Given the description of an element on the screen output the (x, y) to click on. 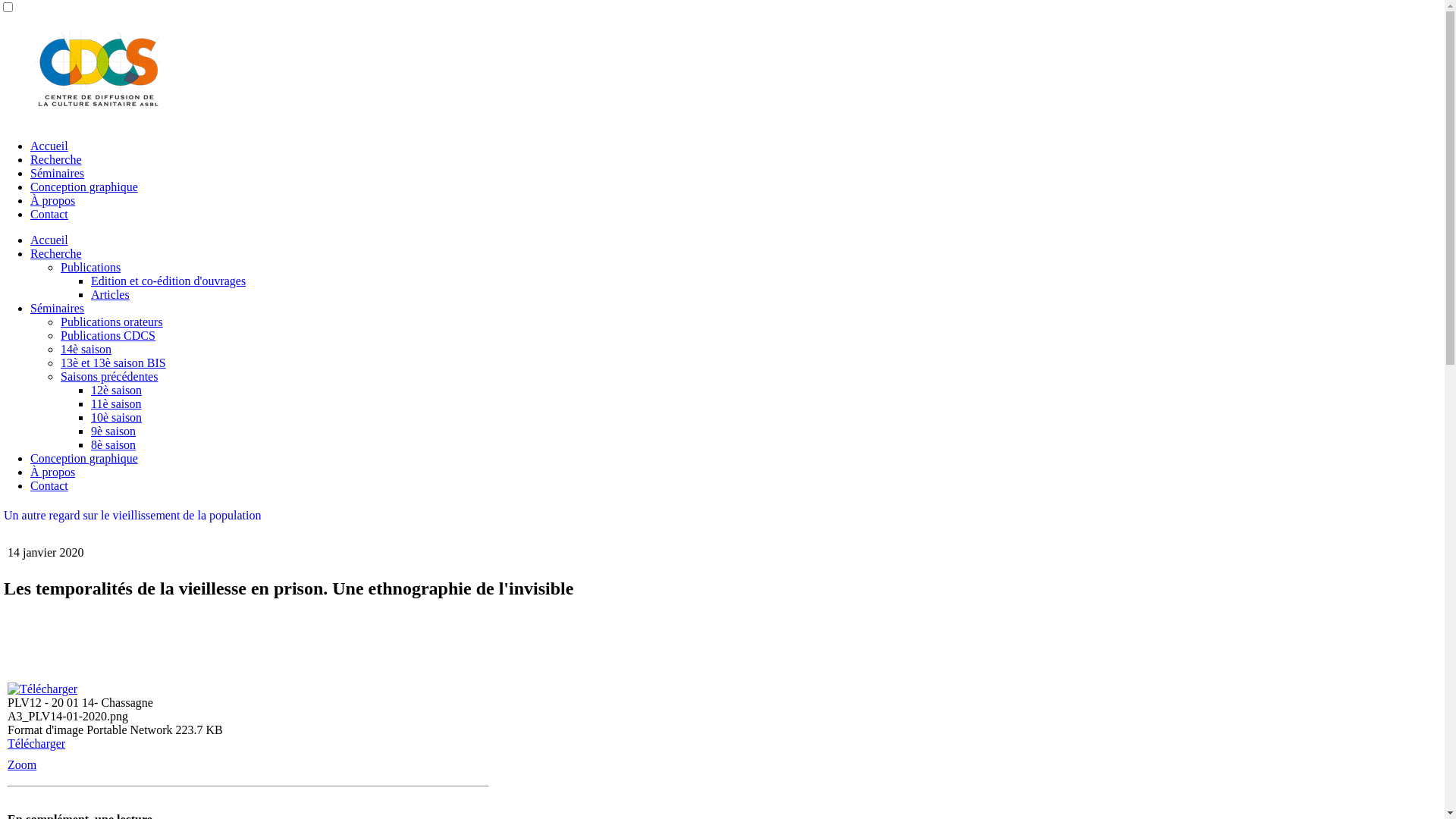
Articles Element type: text (110, 294)
Recherche Element type: text (55, 159)
Accueil Element type: text (49, 145)
Conception graphique Element type: text (84, 186)
Publications CDCS Element type: text (107, 335)
Recherche Element type: text (55, 253)
Contact Element type: text (49, 213)
Contact Element type: text (49, 485)
Zoom Element type: text (21, 764)
Un autre regard sur le vieillissement de la population Element type: text (131, 514)
Publications orateurs Element type: text (111, 321)
Conception graphique Element type: text (84, 457)
Accueil Element type: text (49, 239)
Publications Element type: text (90, 266)
